Given the description of an element on the screen output the (x, y) to click on. 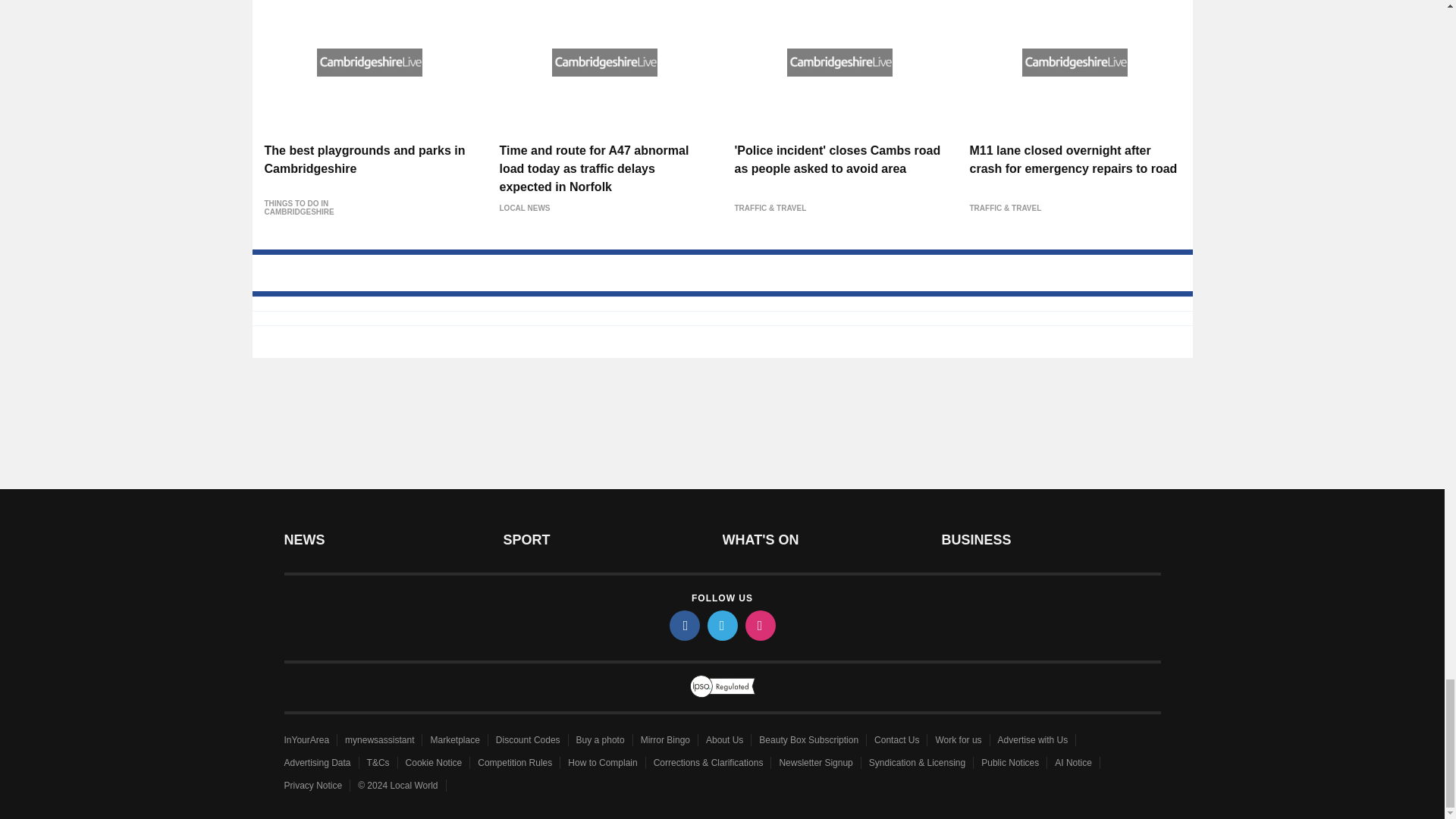
facebook (683, 625)
instagram (759, 625)
twitter (721, 625)
